Given the description of an element on the screen output the (x, y) to click on. 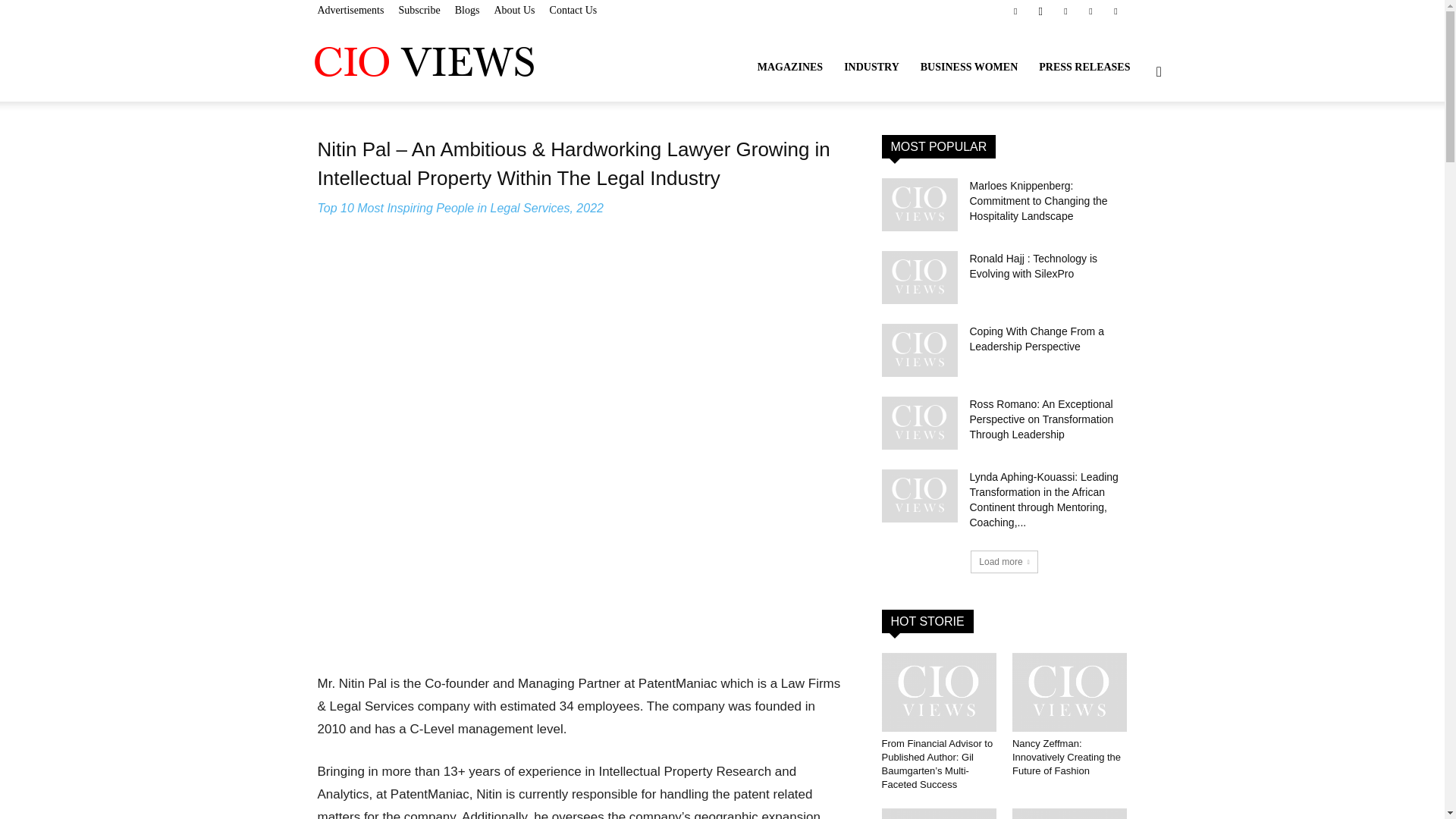
MAGAZINES (789, 66)
Advertisements (350, 9)
About Us (513, 9)
Blogs (467, 9)
Top 10 Most Inspiring People in Legal Services, 2022 (459, 207)
Pinterest (1090, 10)
INDUSTRY (871, 66)
Instagram (1040, 10)
CIO VIEWS (423, 61)
Facebook (1015, 10)
